Given the description of an element on the screen output the (x, y) to click on. 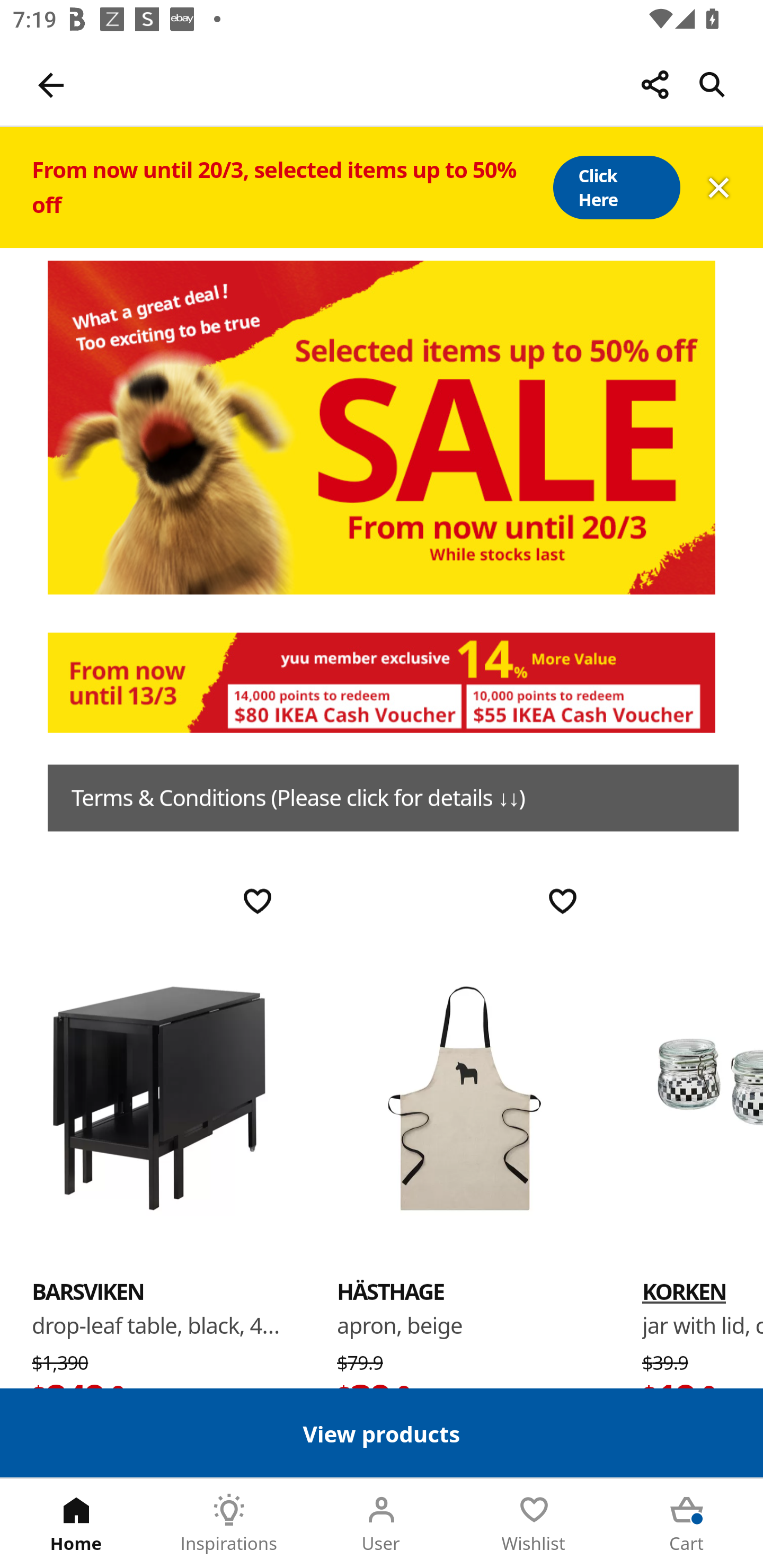
Click Here (615, 187)
Terms & Conditions (Please click for details ↓↓) (393, 798)
BARSVIKEN (159, 1096)
HÄSTHAGE (464, 1096)
KORKEN (702, 1096)
BARSVIKEN (88, 1290)
HÄSTHAGE (390, 1290)
KORKEN (684, 1290)
View products (381, 1432)
Home
Tab 1 of 5 (76, 1522)
Inspirations
Tab 2 of 5 (228, 1522)
User
Tab 3 of 5 (381, 1522)
Wishlist
Tab 4 of 5 (533, 1522)
Cart
Tab 5 of 5 (686, 1522)
